Given the description of an element on the screen output the (x, y) to click on. 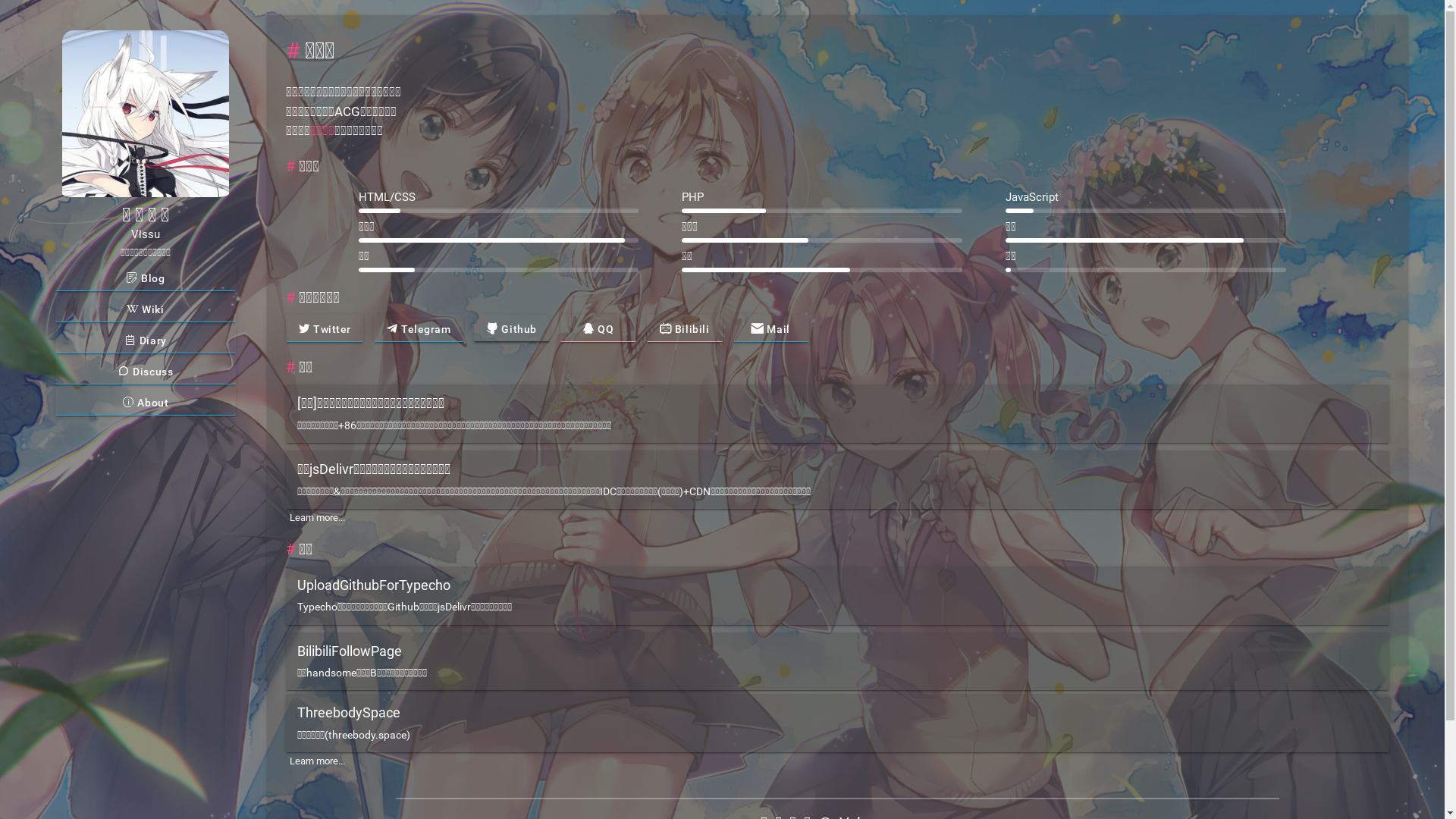
Discuss Element type: text (145, 370)
Telegram Element type: text (418, 328)
About Element type: text (145, 401)
QQ Element type: text (598, 328)
Learn more... Element type: text (317, 760)
# Element type: text (289, 164)
Wiki Element type: text (145, 308)
# Element type: text (289, 296)
# Element type: text (292, 50)
Learn more... Element type: text (317, 517)
Diary Element type: text (145, 339)
# Element type: text (289, 548)
Github Element type: text (511, 328)
Bilibili Element type: text (684, 328)
Twitter Element type: text (324, 328)
Mail Element type: text (771, 328)
Blog Element type: text (145, 277)
# Element type: text (289, 366)
